Given the description of an element on the screen output the (x, y) to click on. 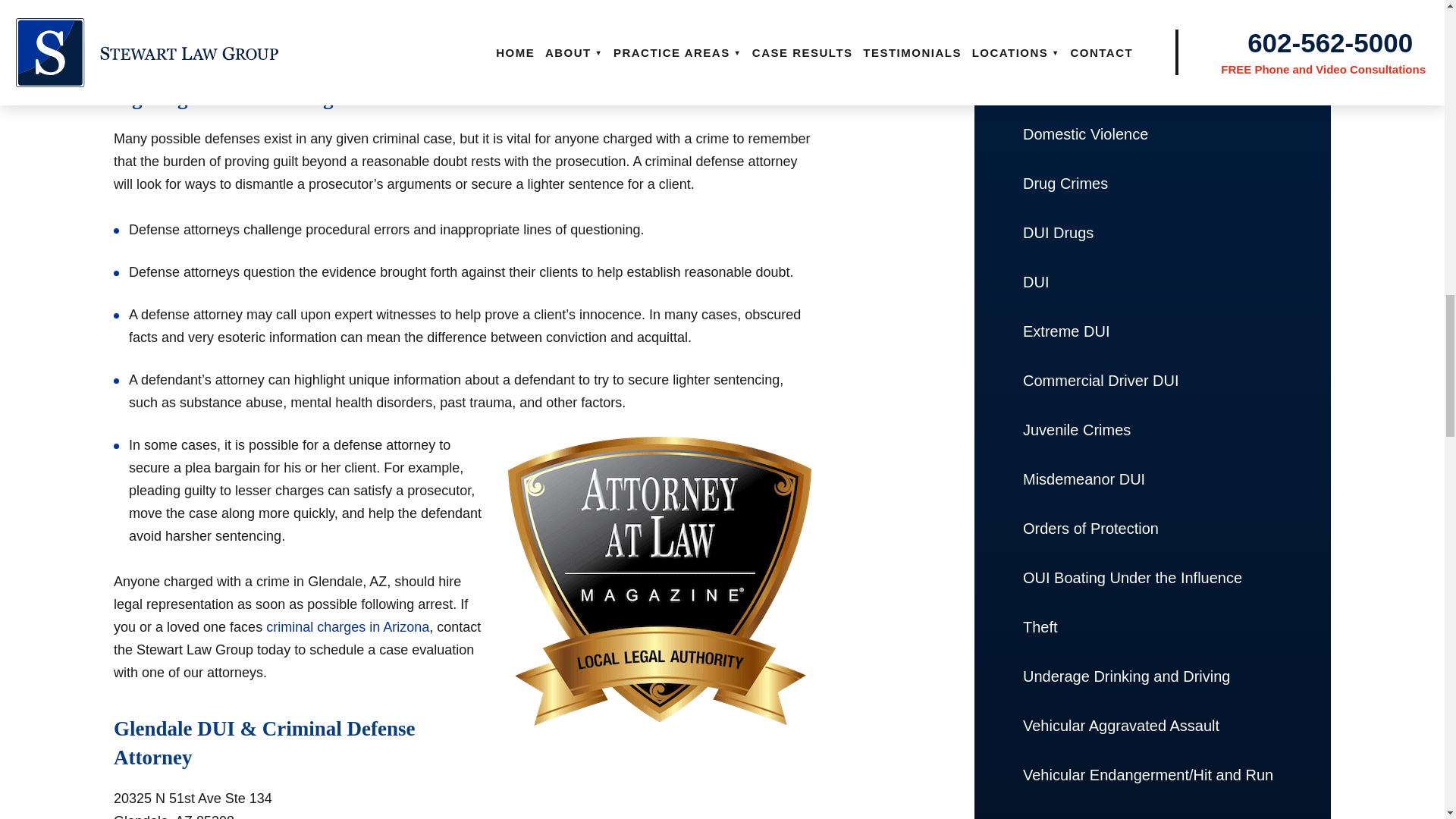
Criminal Defense Overview (1152, 5)
criminal charges in Arizona (347, 626)
Domestic Violence (1152, 133)
Assault (1152, 84)
diversionary programs (518, 18)
Aggravated Felony DUI (1152, 35)
